Given the description of an element on the screen output the (x, y) to click on. 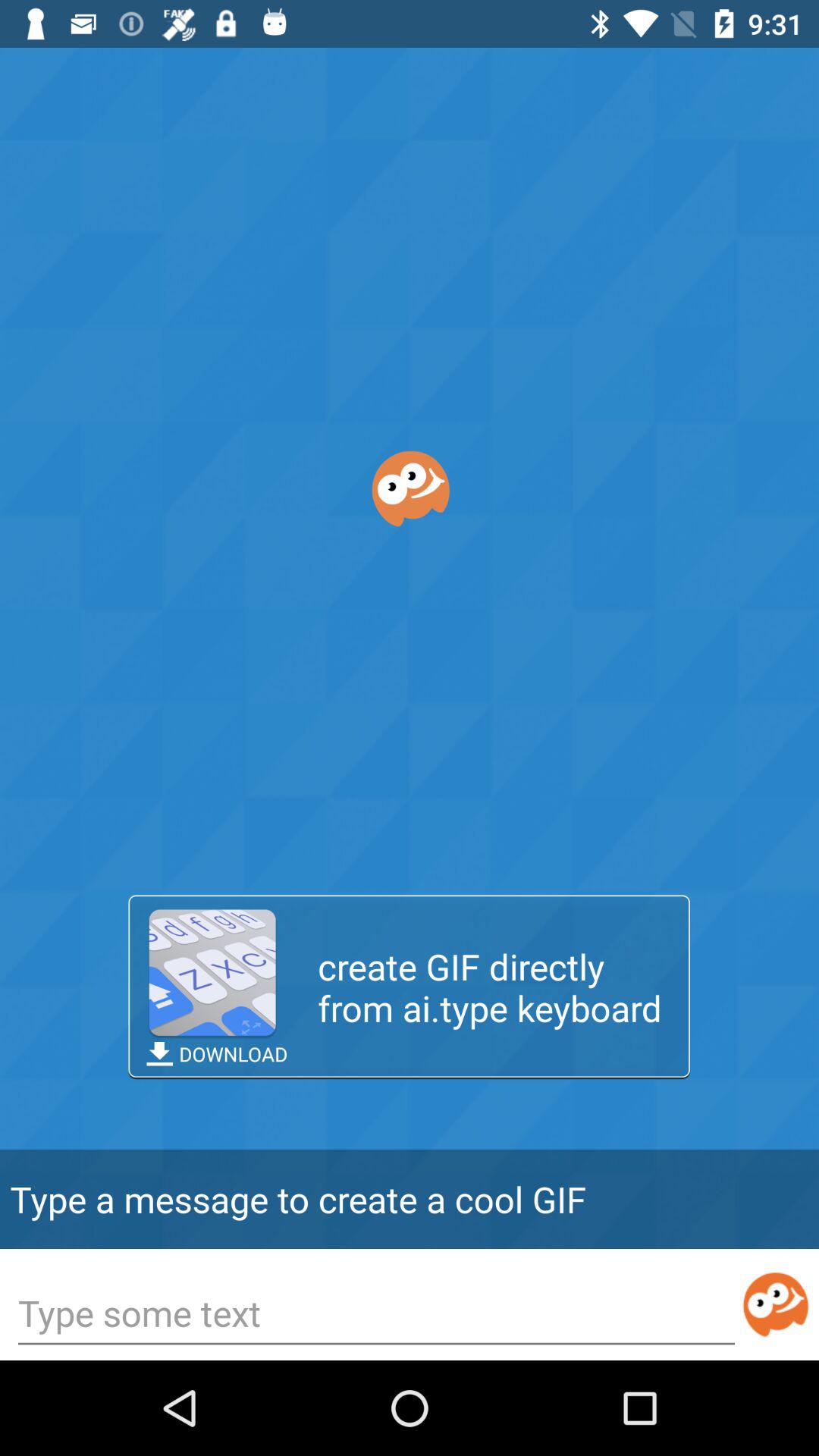
enter text (376, 1315)
